Given the description of an element on the screen output the (x, y) to click on. 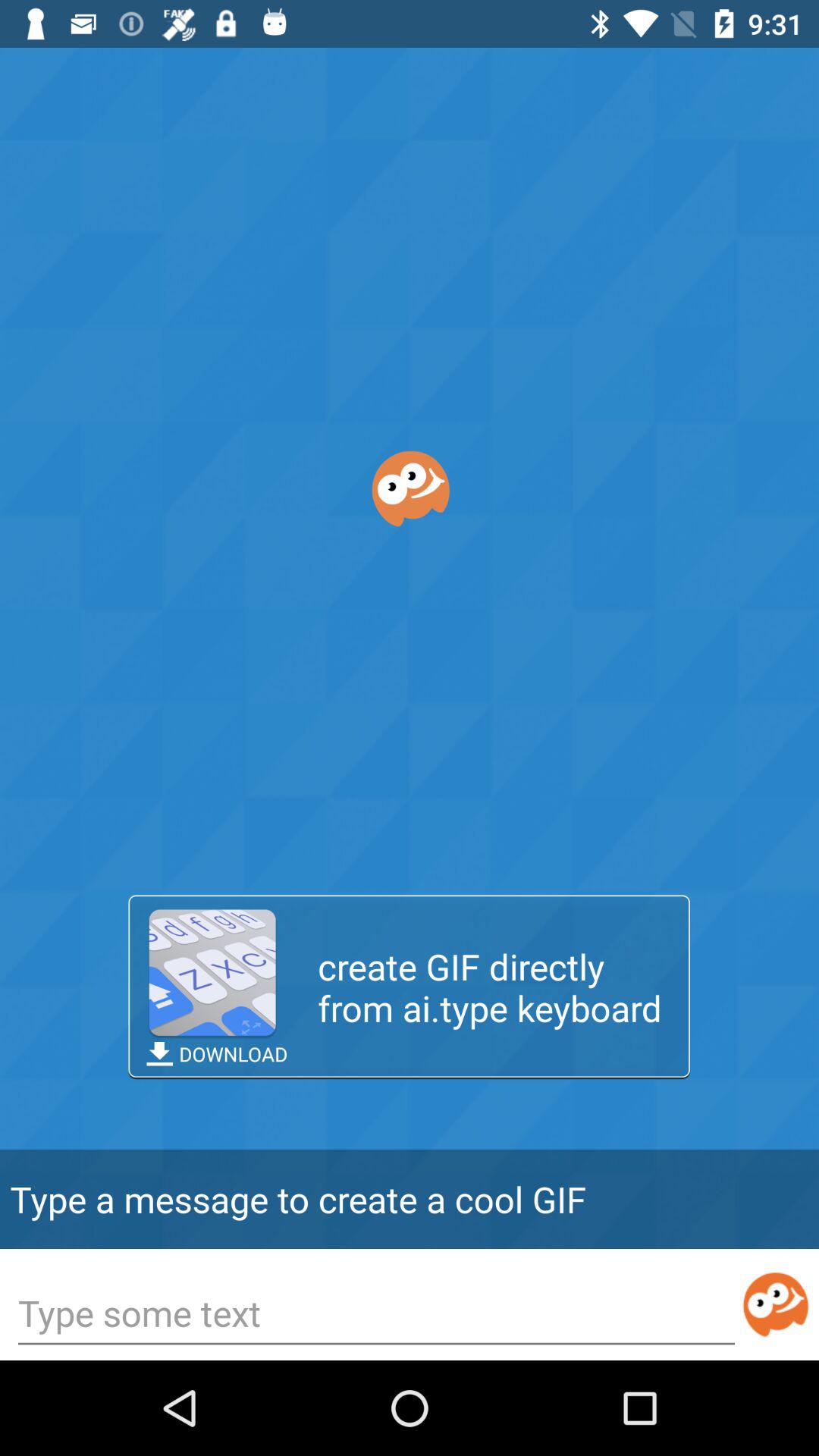
enter text (376, 1315)
